Given the description of an element on the screen output the (x, y) to click on. 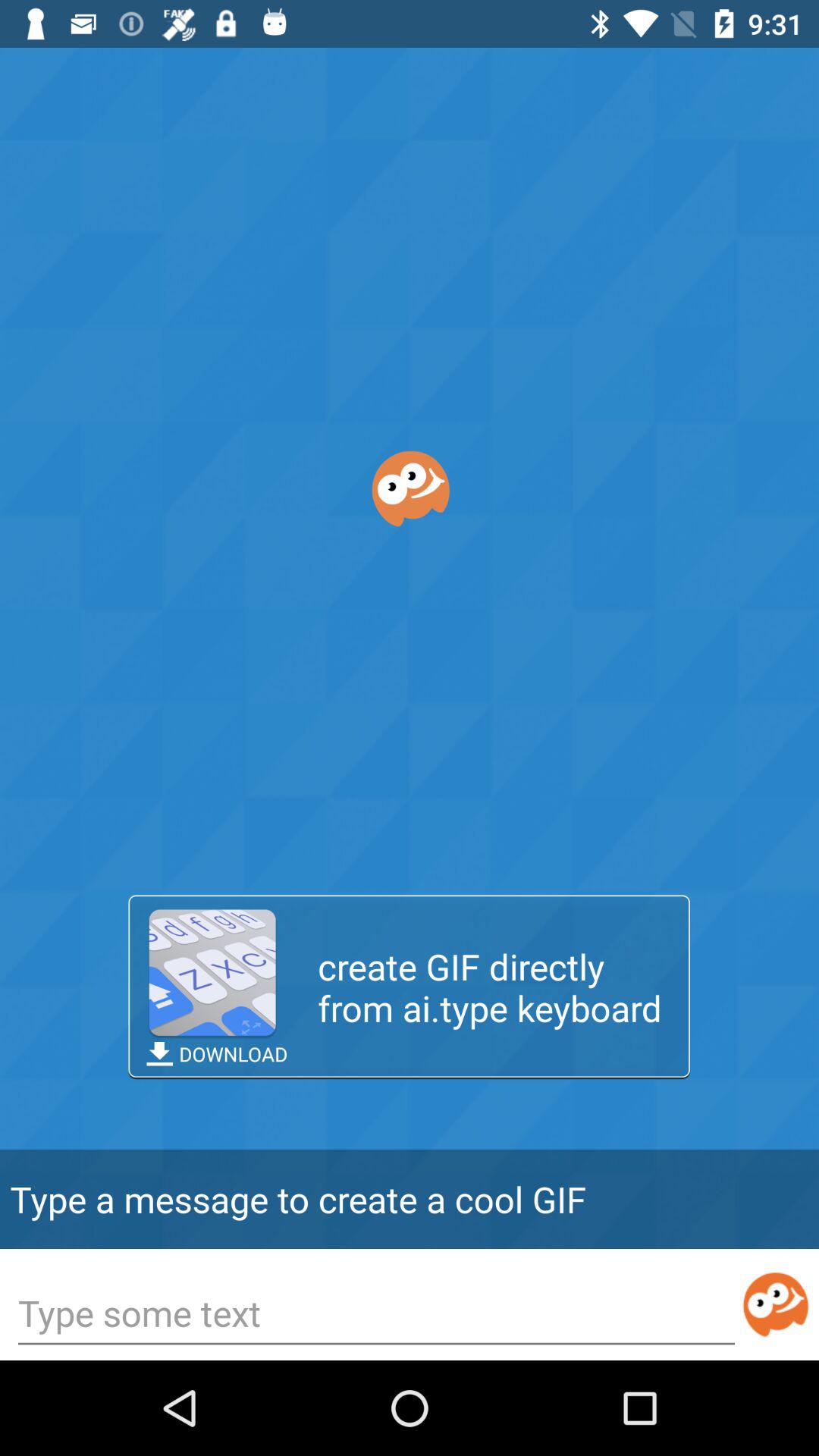
enter text (376, 1315)
